Given the description of an element on the screen output the (x, y) to click on. 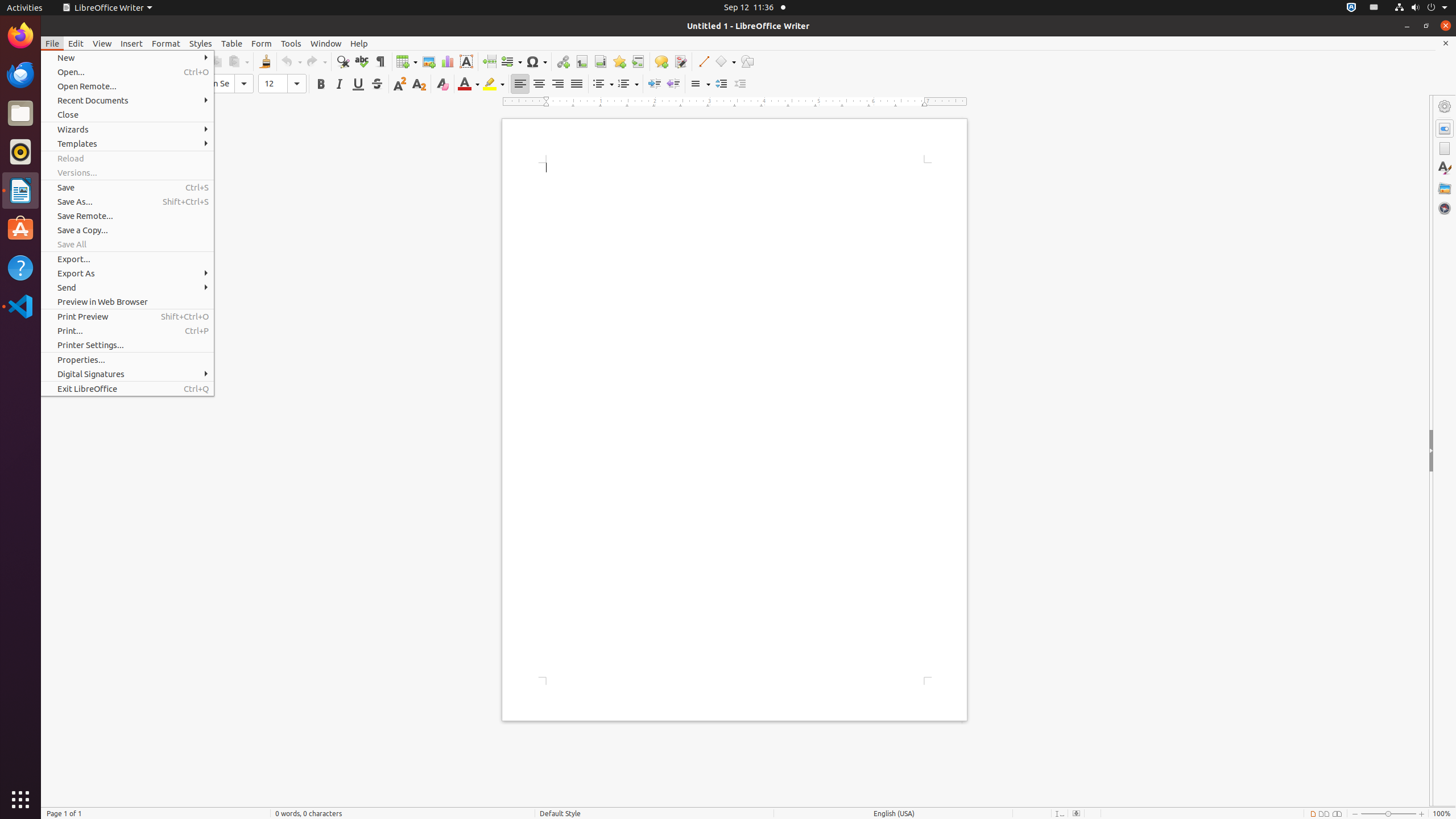
Redo Element type: push-button (315, 61)
Bold Element type: toggle-button (320, 83)
